Given the description of an element on the screen output the (x, y) to click on. 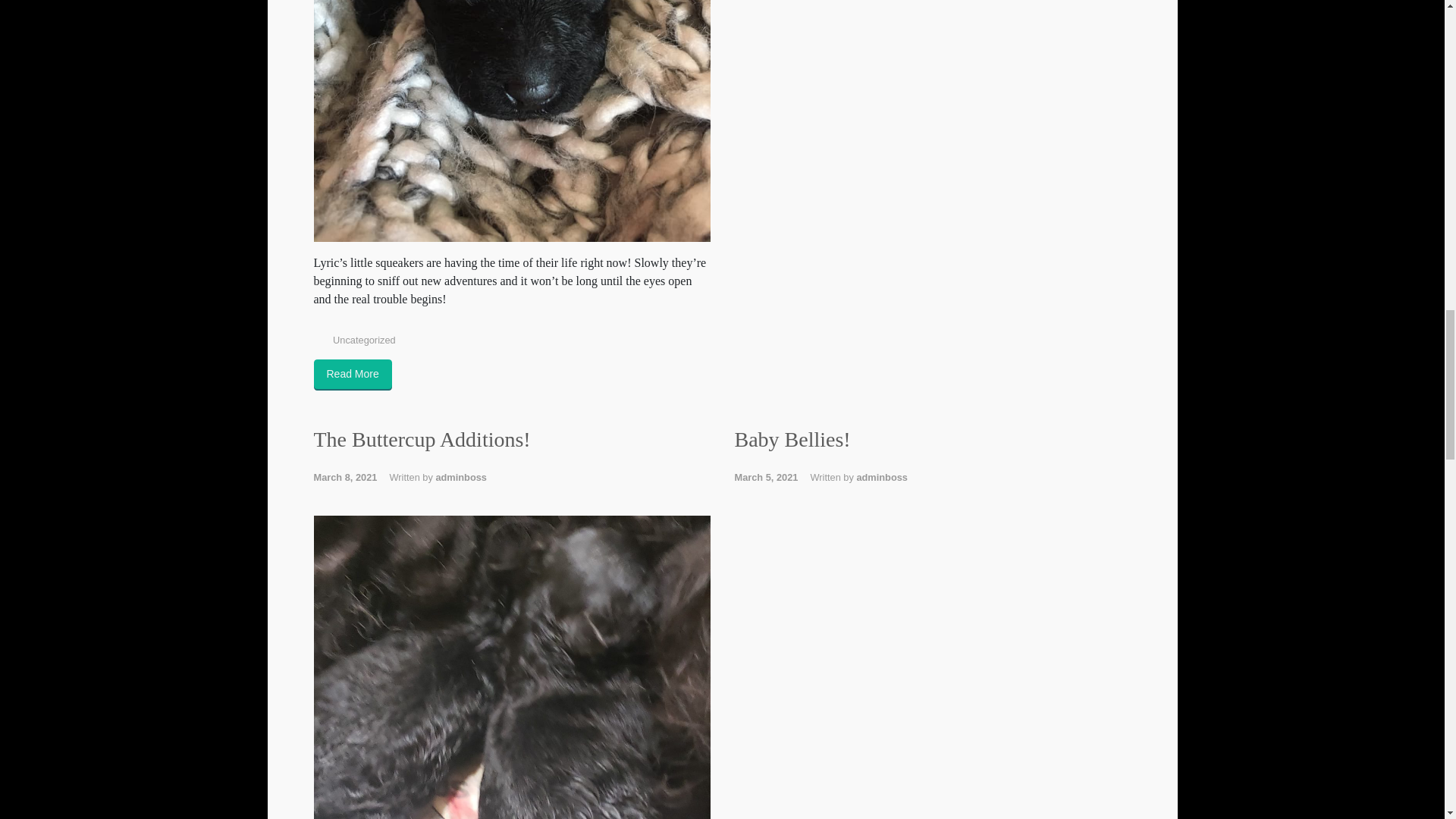
Read More (352, 374)
View all posts by adminboss (881, 477)
View all posts by adminboss (460, 477)
Uncategorized (364, 339)
